Given the description of an element on the screen output the (x, y) to click on. 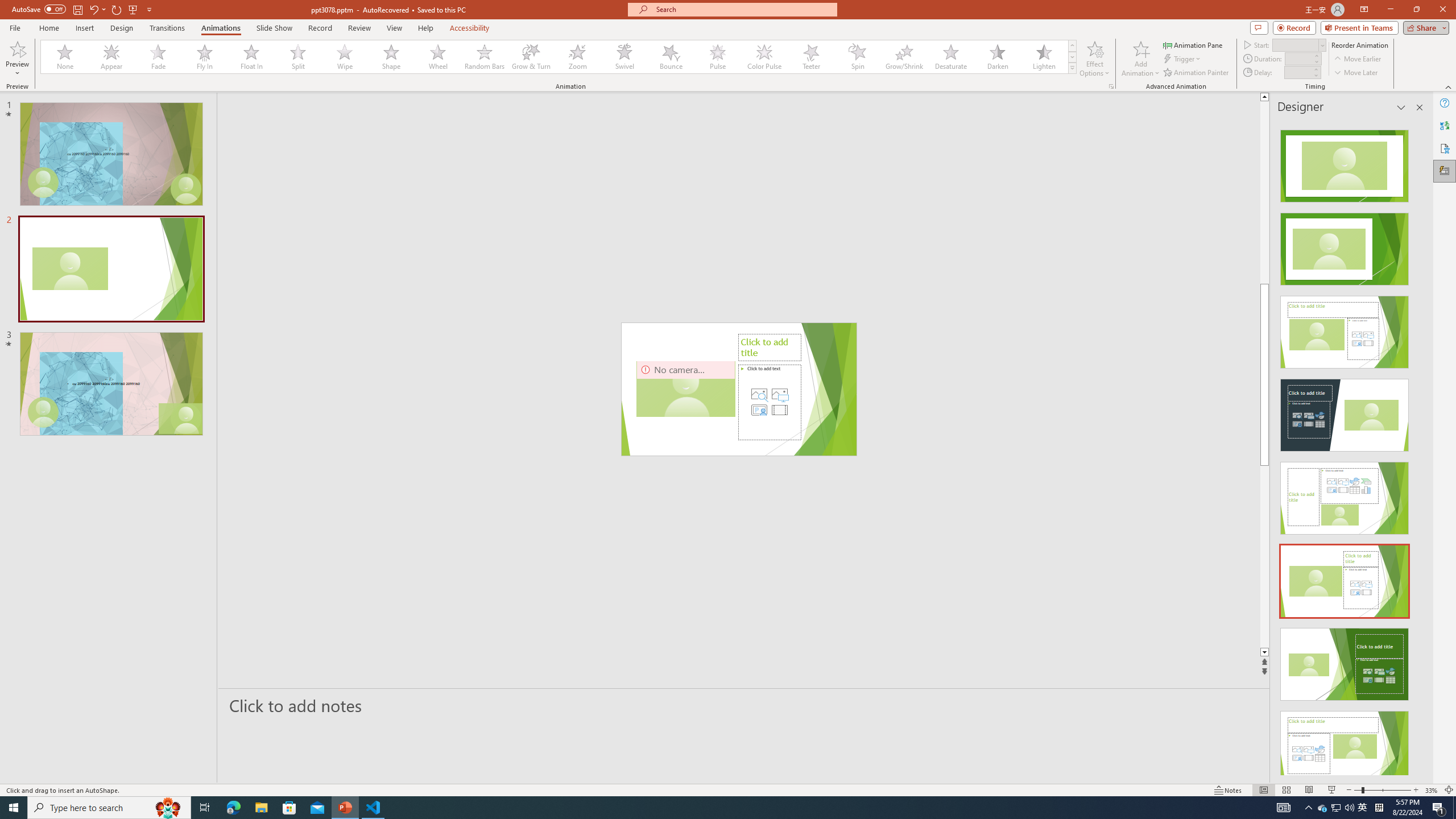
Recommended Design: Design Idea (1344, 162)
Notes  (1227, 790)
Add Animation (1141, 58)
Insert (83, 28)
Animation Delay (1297, 72)
Row up (1071, 45)
Pulse (717, 56)
Line up (1302, 96)
Page down (1302, 556)
Quick Access Toolbar (82, 9)
Wheel (437, 56)
Design (122, 28)
Row Down (1071, 56)
